Given the description of an element on the screen output the (x, y) to click on. 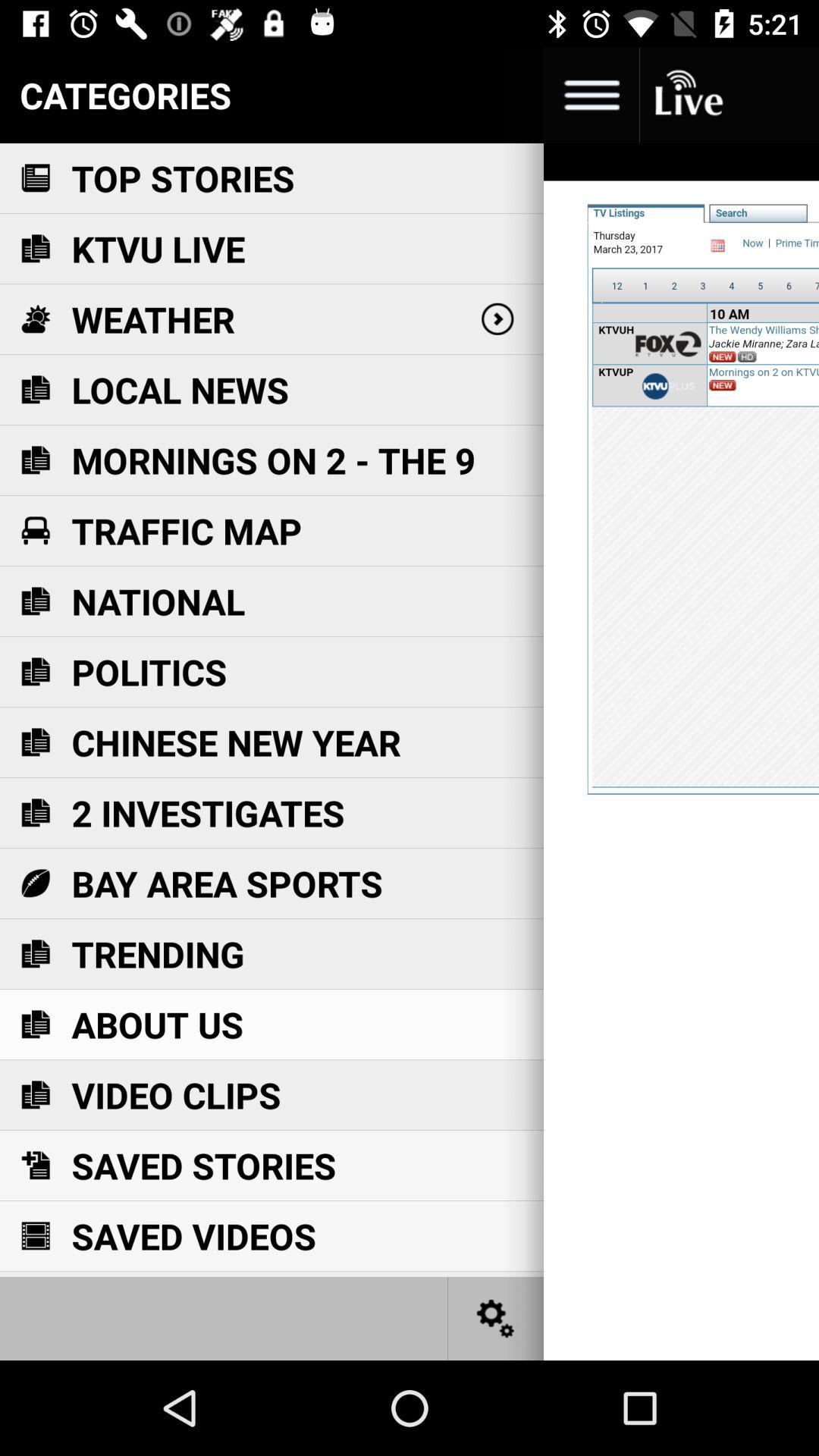
view settings (495, 1318)
